Given the description of an element on the screen output the (x, y) to click on. 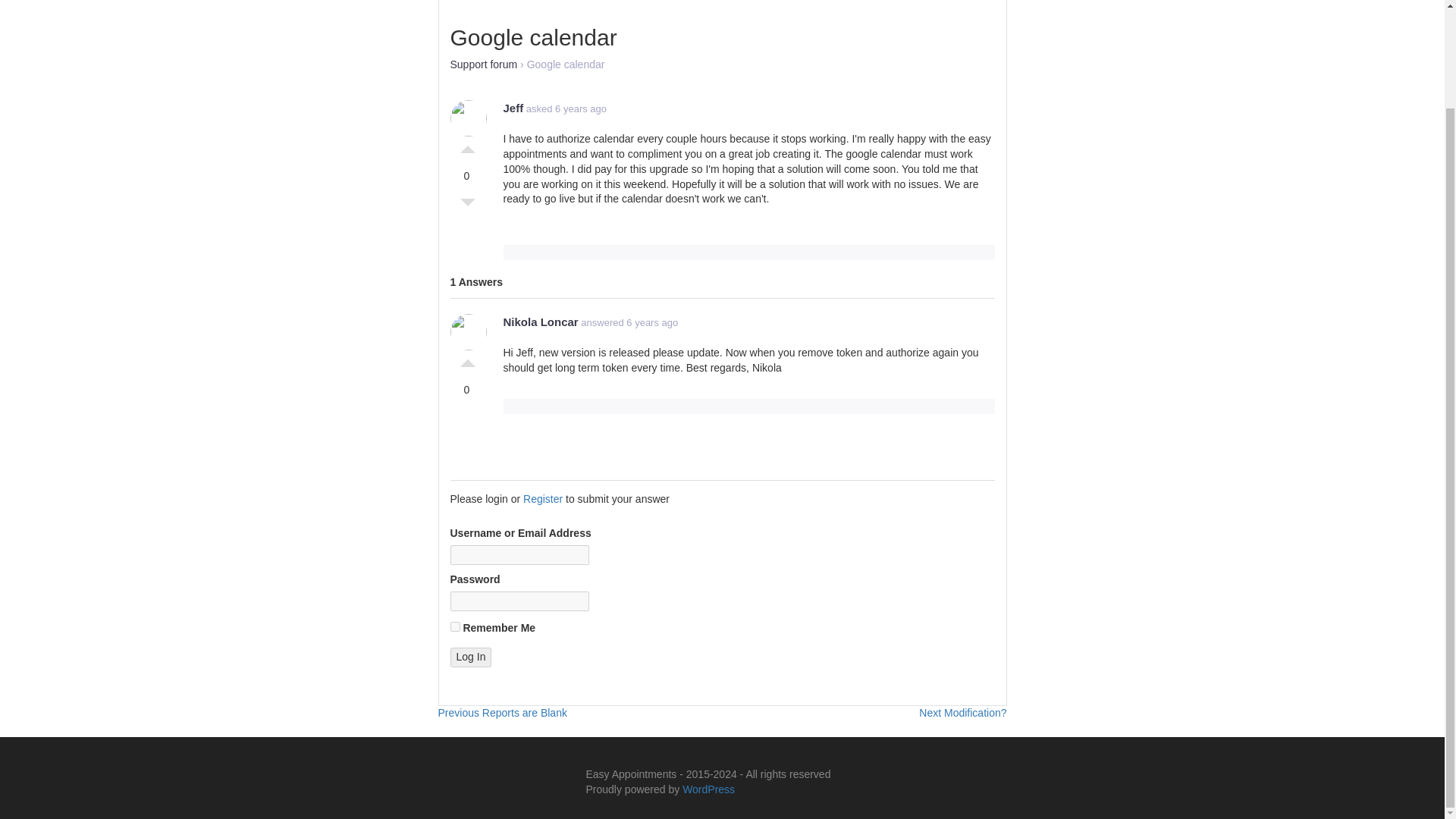
Register (542, 499)
Vote Up (502, 712)
Vote Down (467, 145)
forever (467, 206)
Vote Up (454, 626)
Log In (467, 359)
Log In (470, 657)
Support forum (470, 657)
Jeff (483, 64)
